Given the description of an element on the screen output the (x, y) to click on. 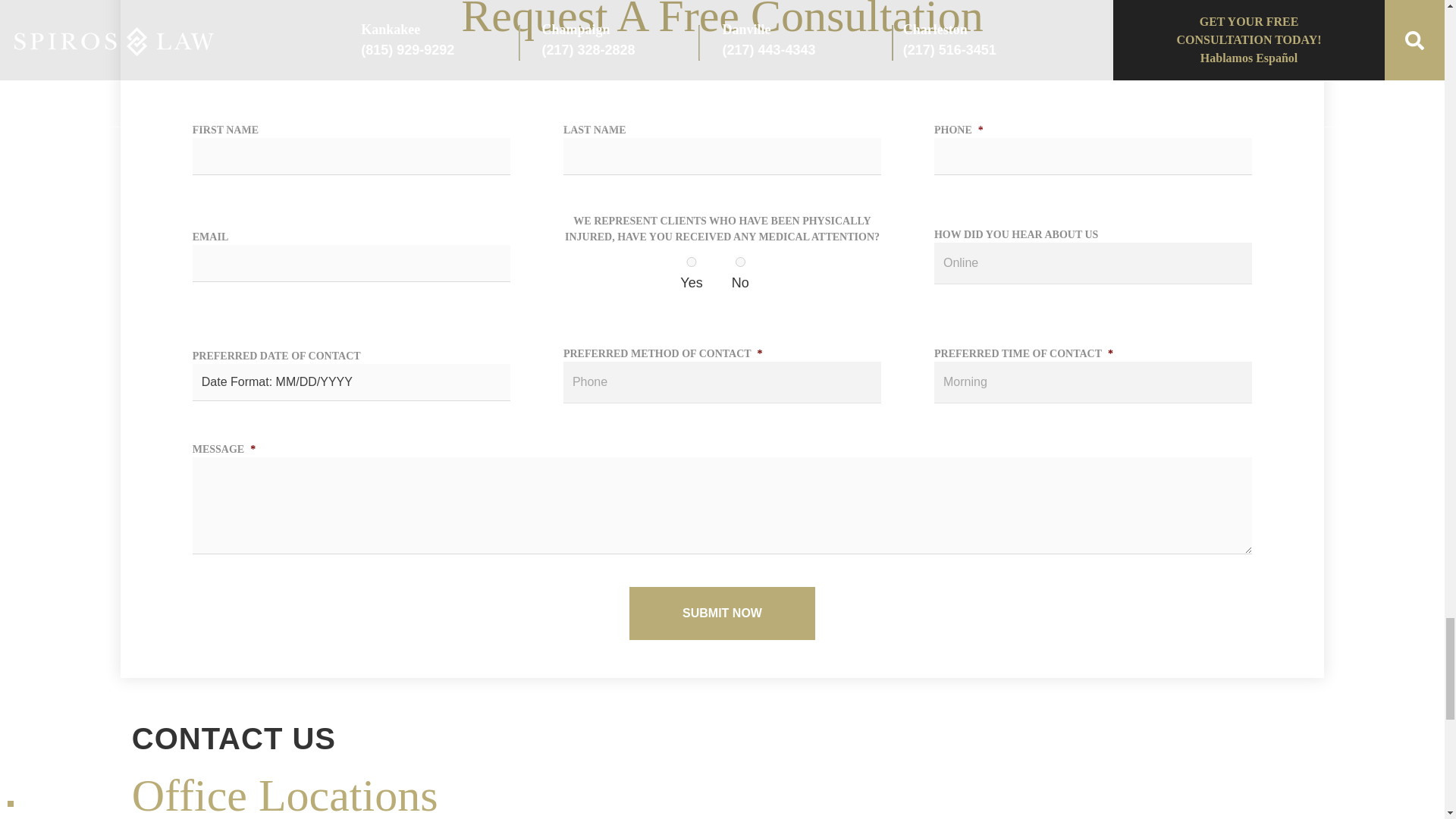
Yes (690, 261)
No (740, 261)
Submit Now (721, 613)
